Given the description of an element on the screen output the (x, y) to click on. 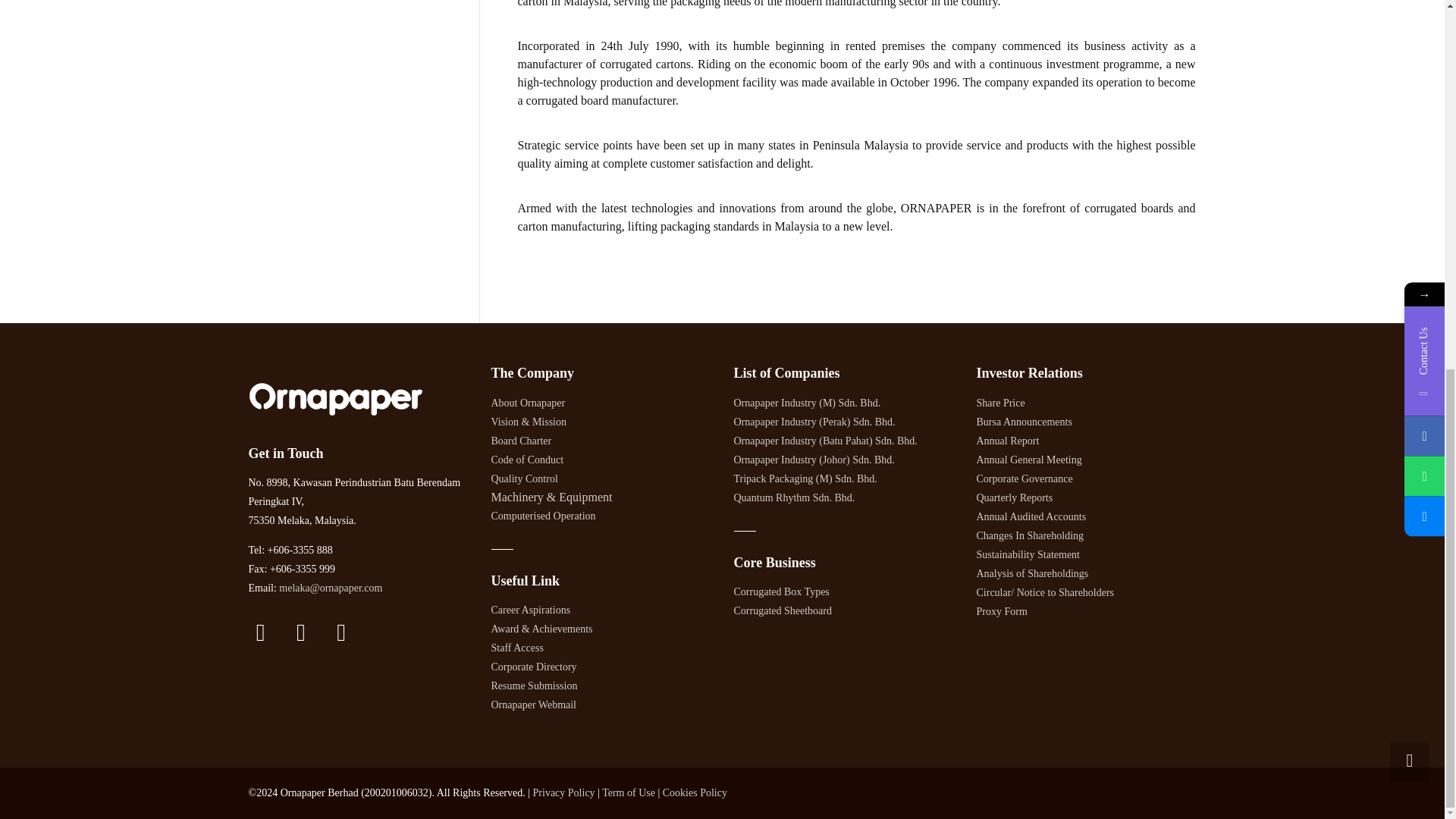
Staff Access (517, 646)
Ornapaper Webmail (534, 703)
Resume Submission (535, 684)
Career Aspirations (531, 608)
Code of Conduct (528, 459)
Board Charter (521, 440)
Corporate Directory (534, 666)
Computerised Operation (543, 514)
Quality Control (524, 477)
About Ornapaper (529, 401)
